Given the description of an element on the screen output the (x, y) to click on. 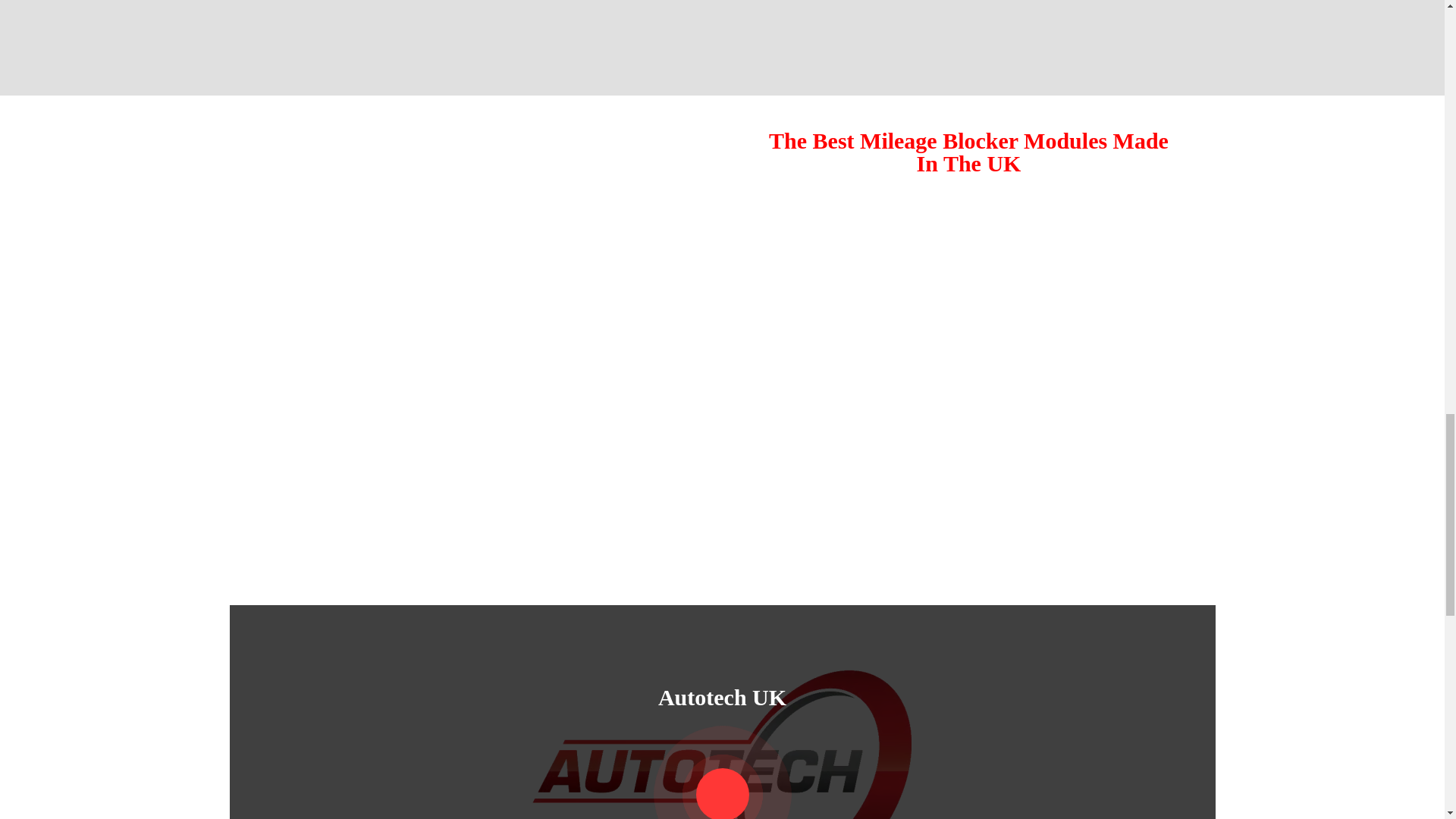
See Our Huge Range Of Quality Blockers (967, 504)
